Given the description of an element on the screen output the (x, y) to click on. 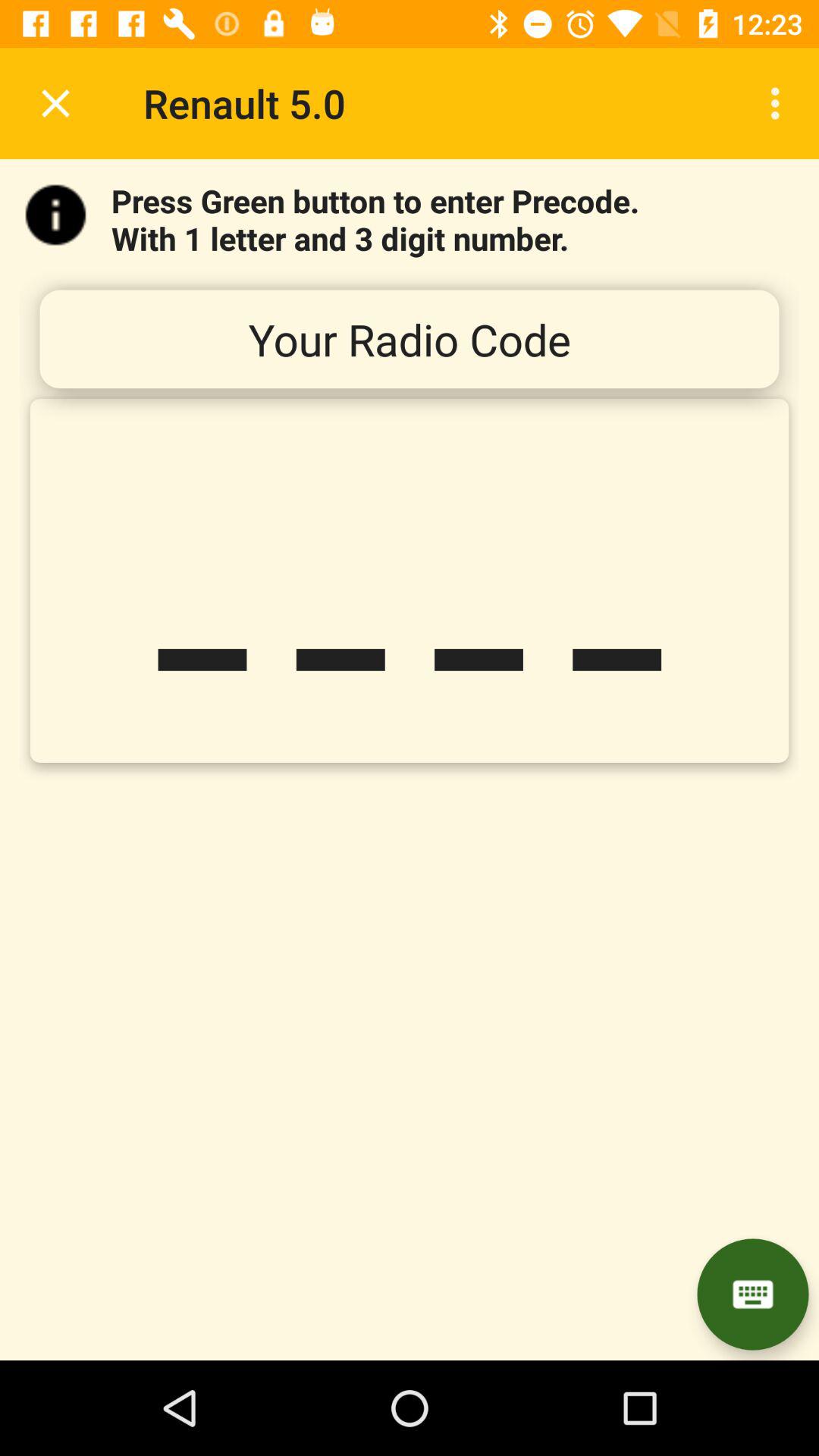
choose item below the _ _ _ item (752, 1294)
